Given the description of an element on the screen output the (x, y) to click on. 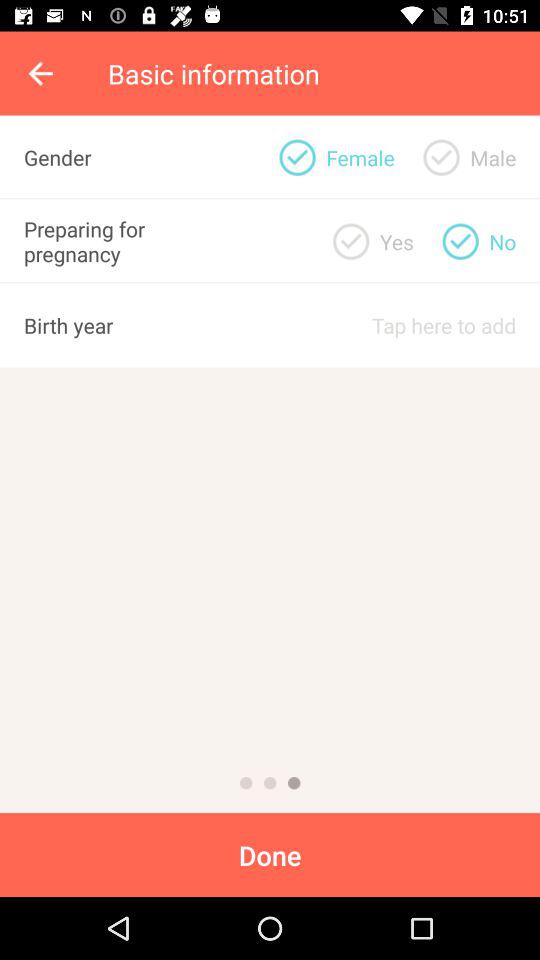
check yes (351, 241)
